Given the description of an element on the screen output the (x, y) to click on. 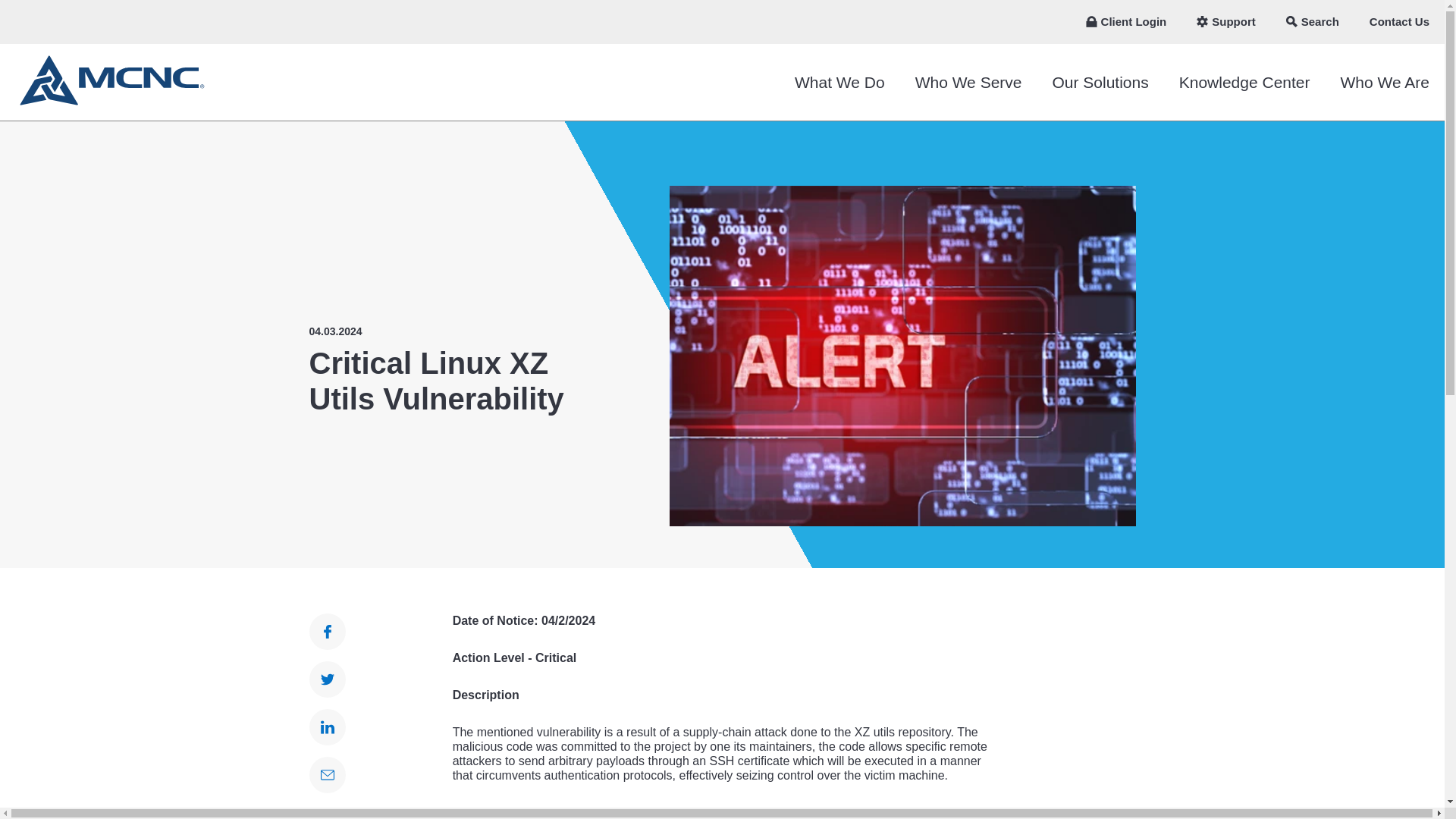
Who We Serve (967, 82)
What We Do (838, 82)
Search (1312, 22)
Client Login (1126, 22)
Support (1225, 22)
Our Solutions (1099, 82)
Contact Us (1399, 22)
